Given the description of an element on the screen output the (x, y) to click on. 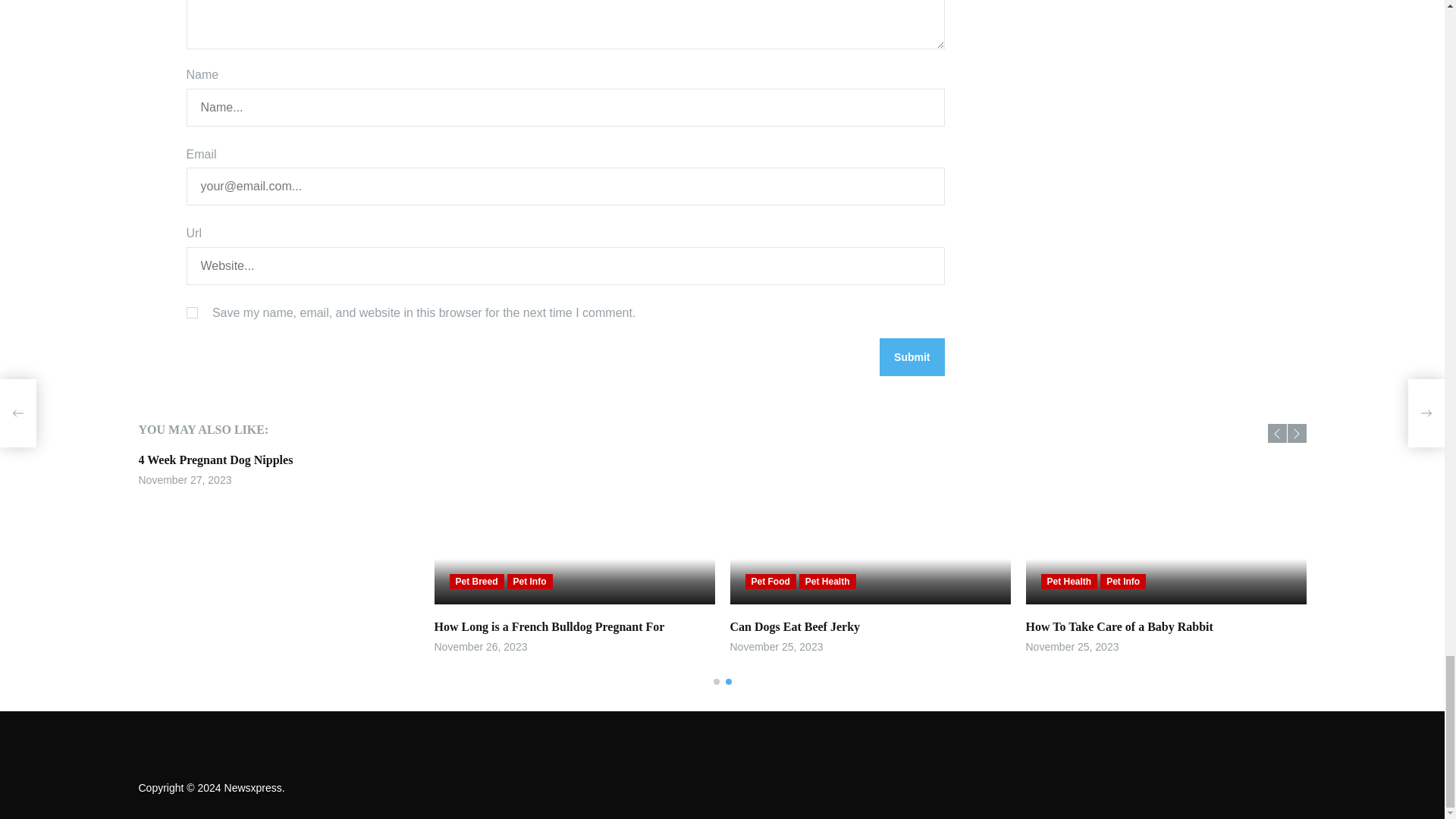
Submit (911, 356)
yes (192, 312)
